Given the description of an element on the screen output the (x, y) to click on. 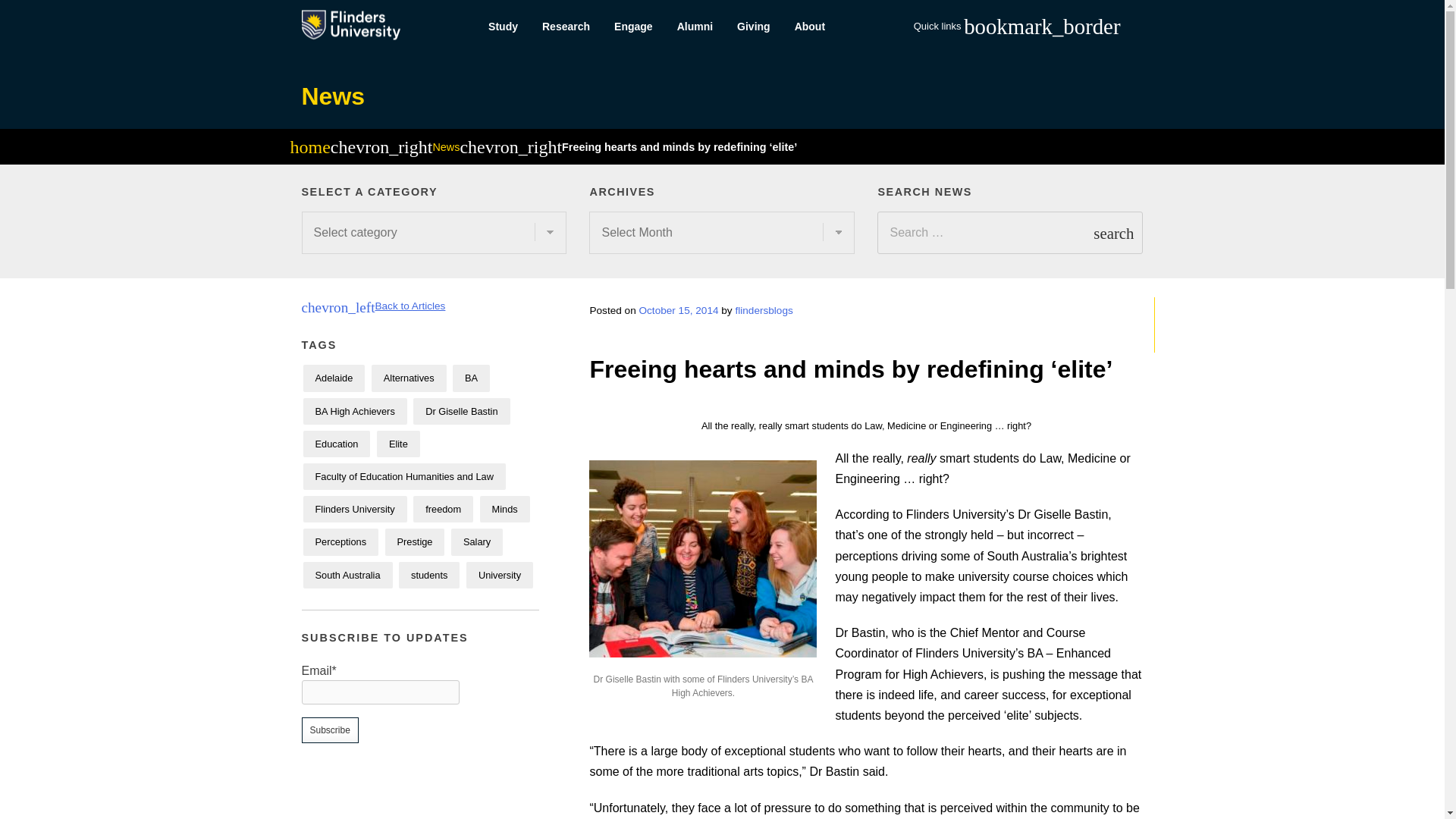
Study (502, 26)
Subscribe (329, 729)
Homepage (309, 149)
Giving (754, 26)
Engage (633, 26)
search (1113, 232)
Elite (398, 443)
News (333, 95)
students (429, 574)
News (446, 146)
University (498, 574)
About (810, 26)
home (309, 149)
BA High Achievers (354, 411)
Education (336, 443)
